Given the description of an element on the screen output the (x, y) to click on. 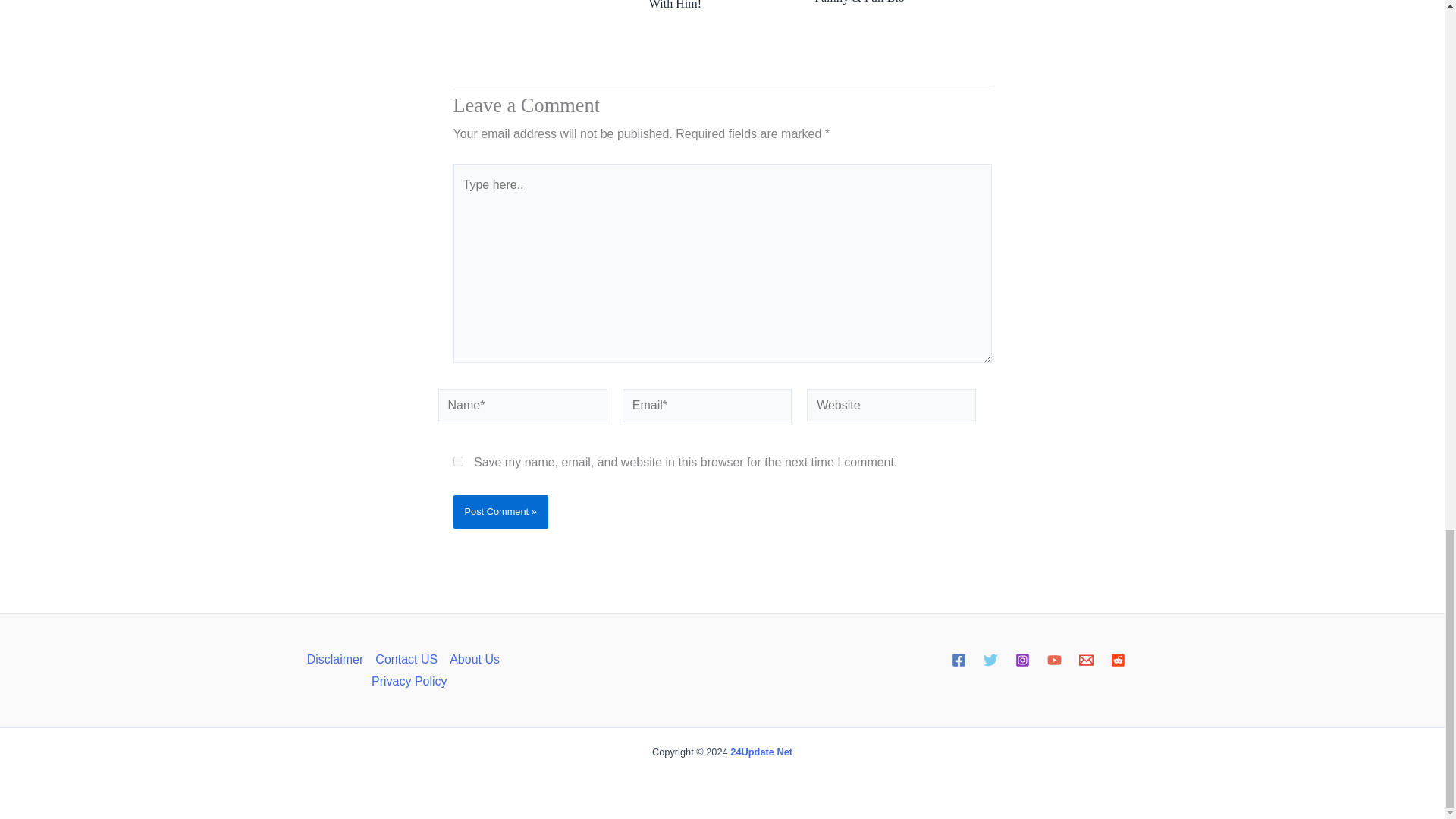
About Us (474, 659)
yes (457, 461)
Contact US (406, 659)
Disclaimer (338, 659)
Privacy Policy (405, 681)
